Given the description of an element on the screen output the (x, y) to click on. 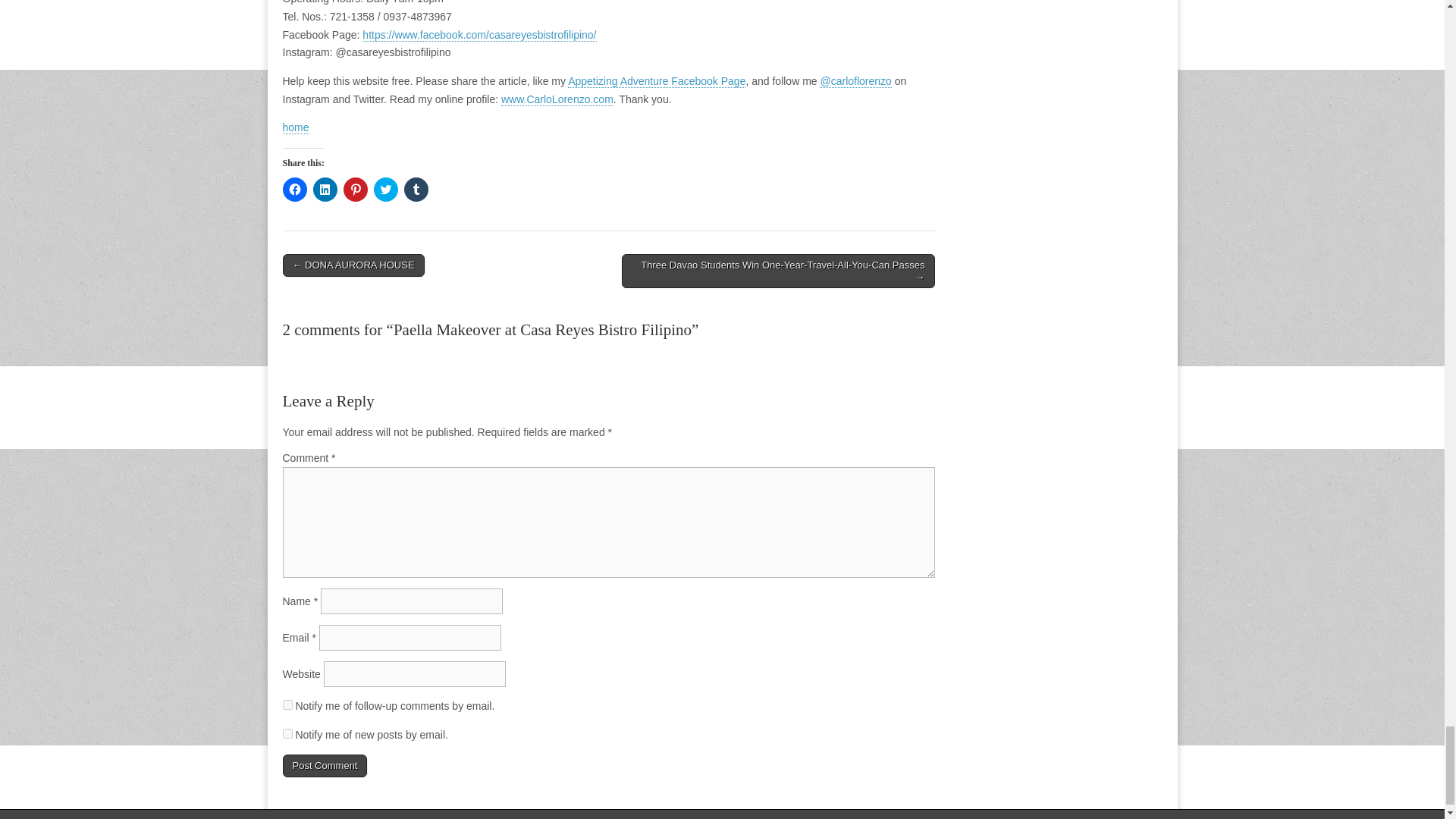
Click to share on Tumblr (415, 189)
Carlo Lorenzo's online profile (556, 99)
Click to share on Facebook (293, 189)
Appetizing Adventure Facebook Page (656, 81)
subscribe (287, 705)
Post Comment (324, 765)
Click to share on Twitter (384, 189)
Click to share on LinkedIn (324, 189)
Click to share on Pinterest (354, 189)
subscribe (287, 733)
